Given the description of an element on the screen output the (x, y) to click on. 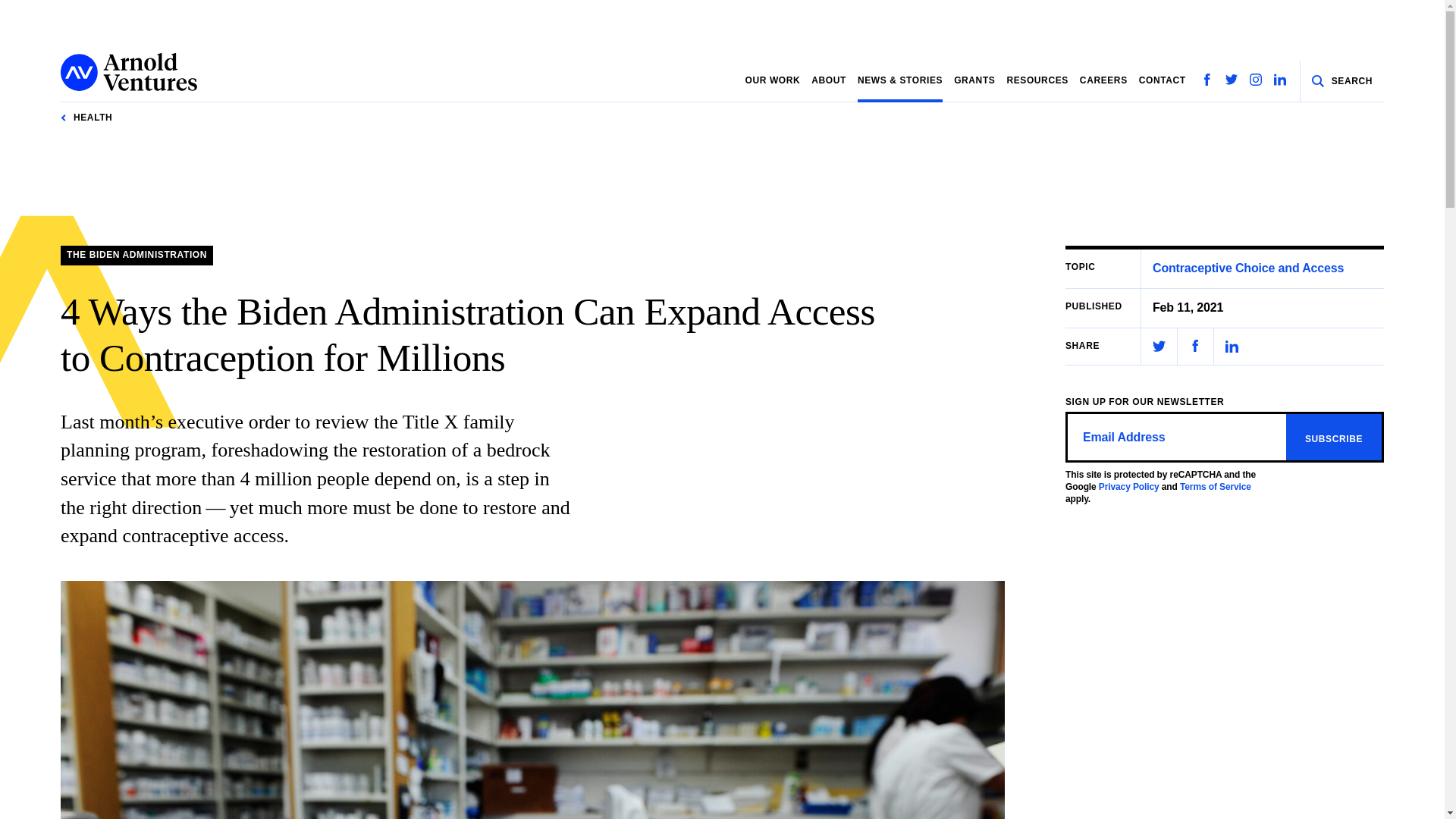
Share on Twitter (1158, 346)
Subscribe (1333, 437)
CONTACT (1162, 80)
GRANTS (973, 80)
Share on LinkedIn (1231, 346)
ABOUT (827, 80)
SEARCH (1342, 81)
Subscribe (1333, 437)
Terms of Service (1214, 486)
Follow us on Instagram (1255, 80)
HEALTH (86, 117)
CAREERS (1103, 80)
Follow us on Twitter (1231, 80)
Privacy Policy (1128, 486)
Share on Facebook (1194, 345)
